Given the description of an element on the screen output the (x, y) to click on. 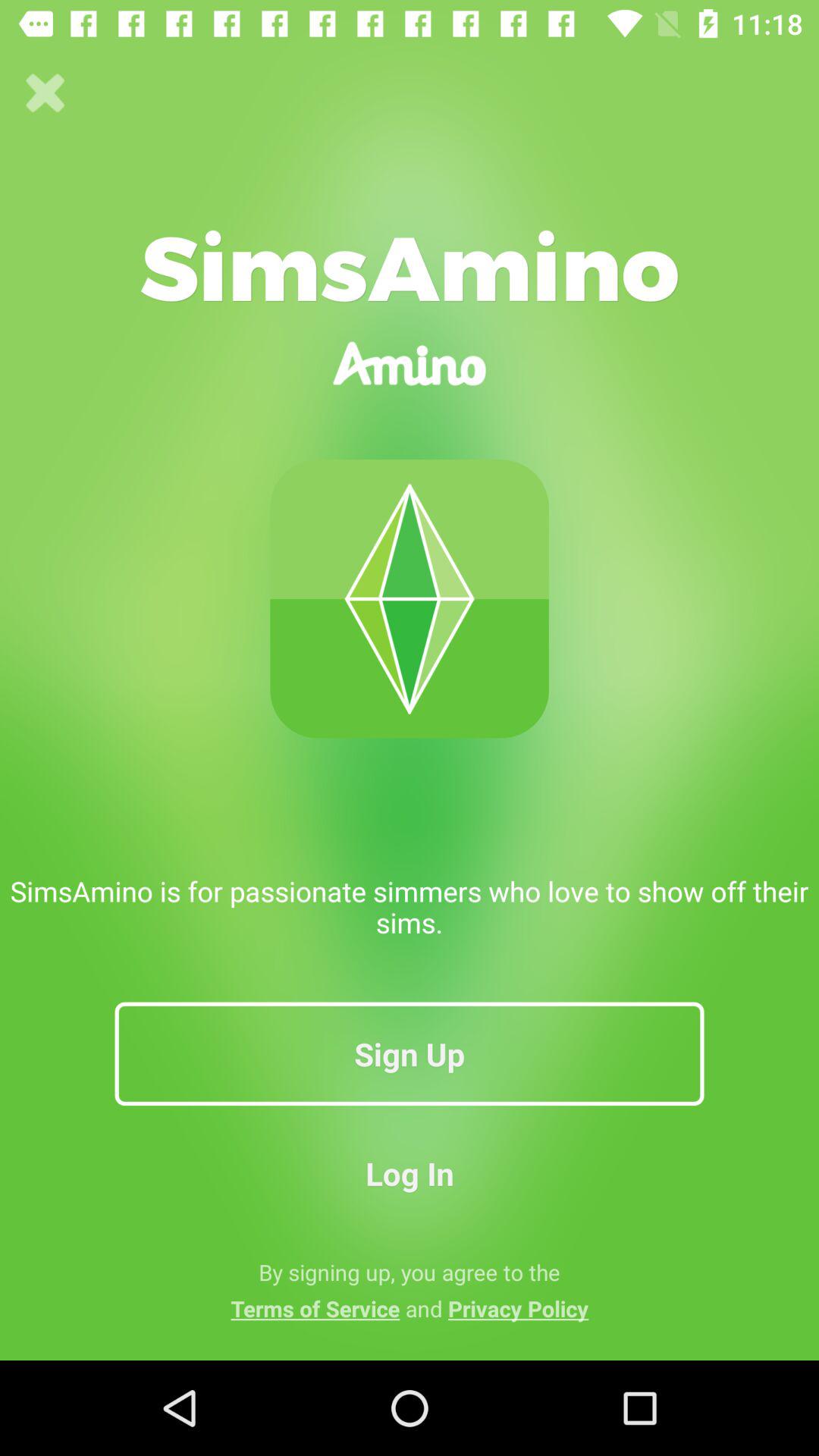
turn on icon below the sign up button (409, 1173)
